Given the description of an element on the screen output the (x, y) to click on. 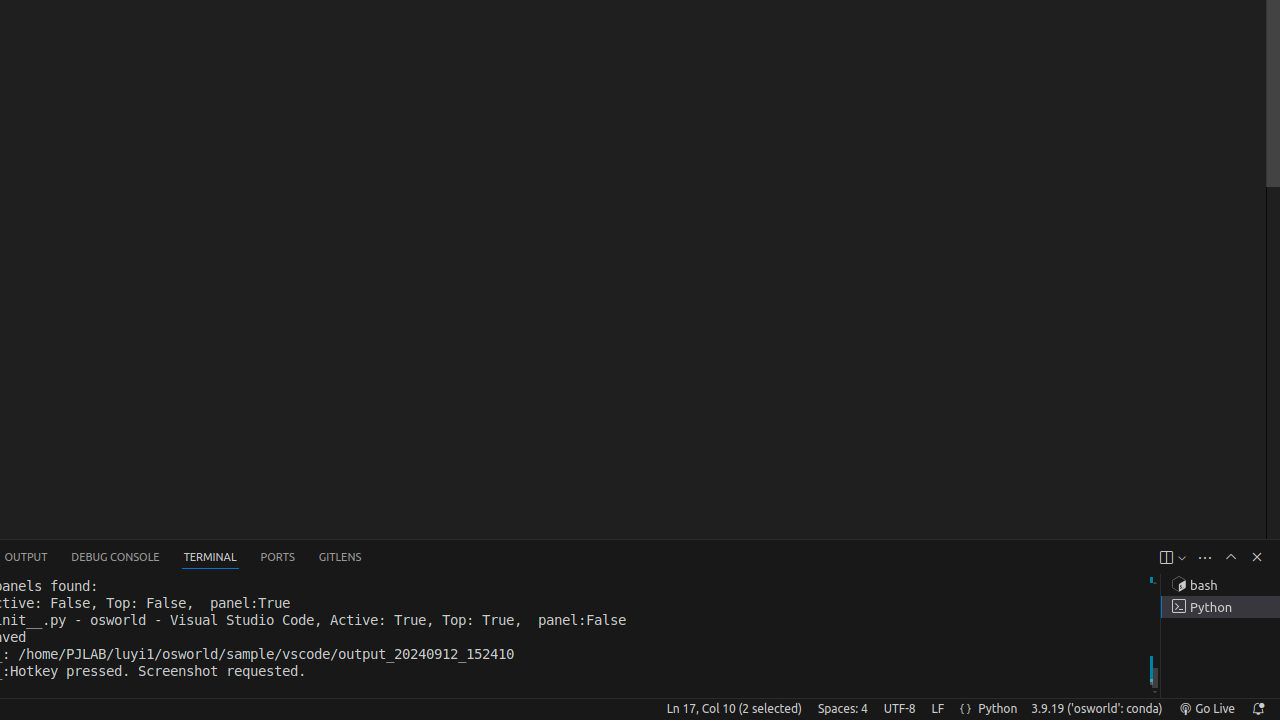
LF Element type: push-button (938, 709)
Launch Profile... Element type: push-button (1182, 557)
Notifications Element type: push-button (1258, 709)
Terminal 5 Python Element type: list-item (1220, 607)
New Terminal (Ctrl+Shift+`) [Alt] Split Terminal (Ctrl+Shift+5) Element type: push-button (1166, 557)
